Given the description of an element on the screen output the (x, y) to click on. 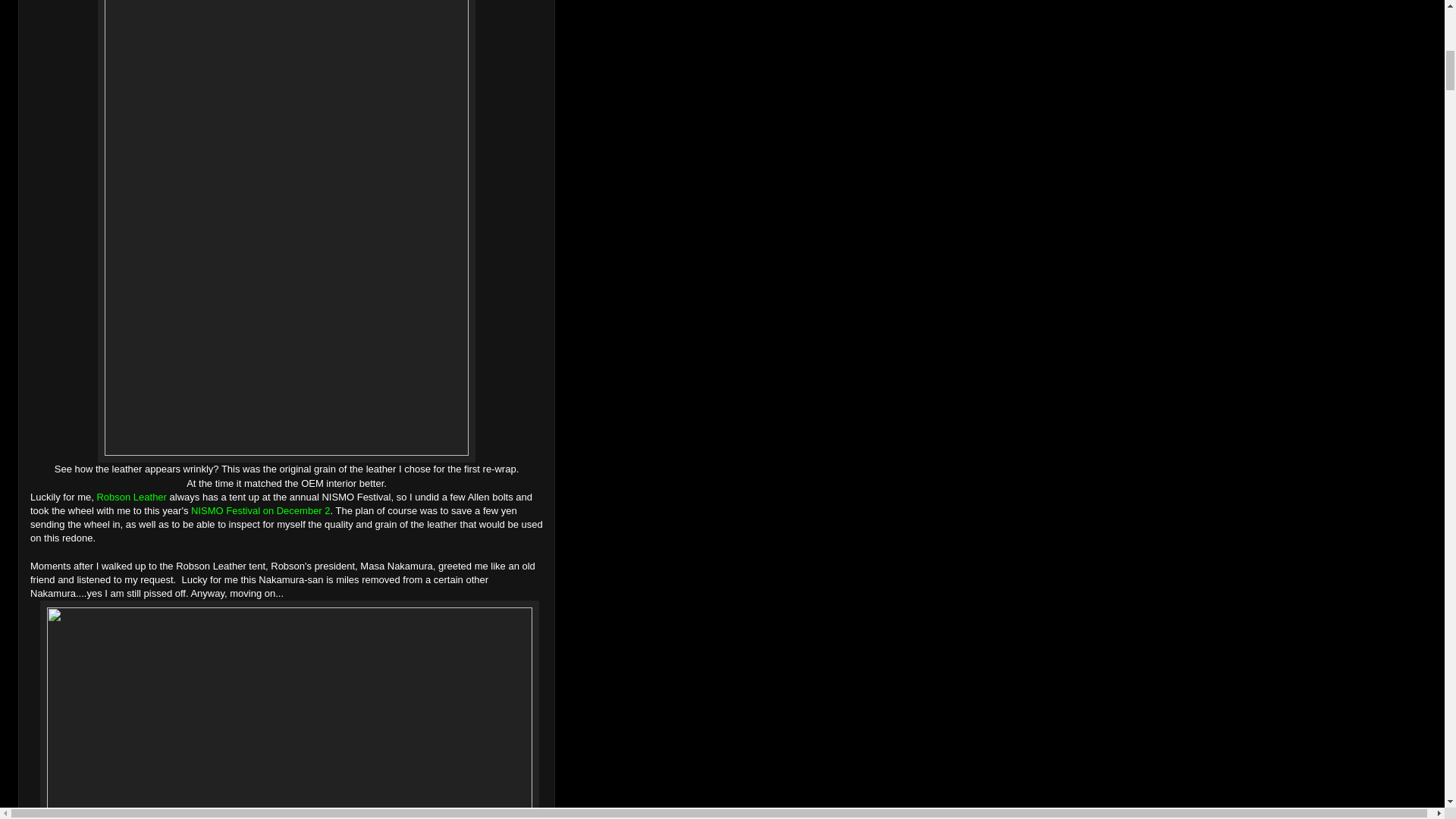
Robson Leather (131, 496)
NISMO Festival on December 2 (260, 510)
